Given the description of an element on the screen output the (x, y) to click on. 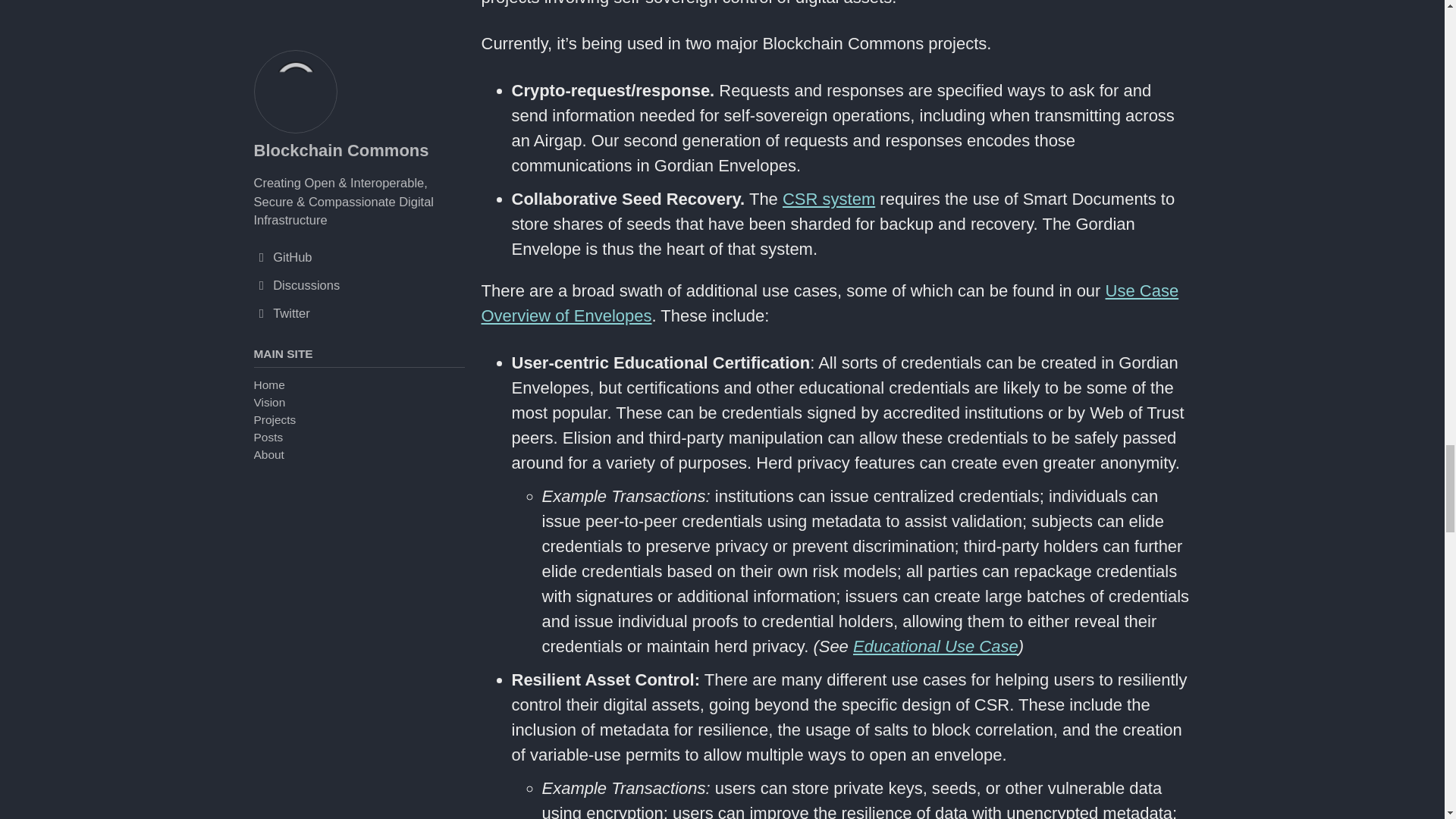
CSR system (829, 198)
Educational Use Case (935, 646)
Use Case Overview of Envelopes (828, 303)
